Given the description of an element on the screen output the (x, y) to click on. 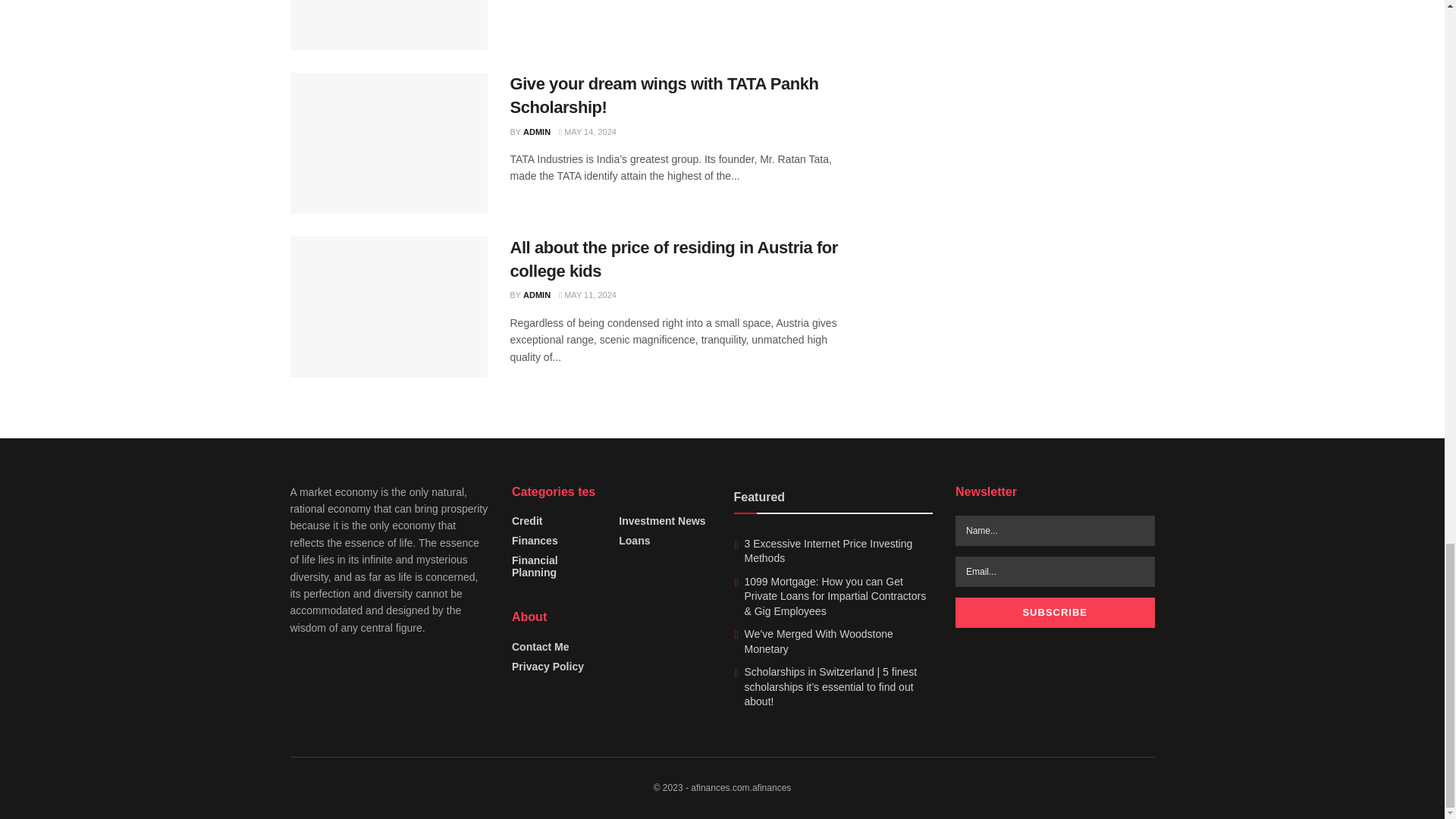
Subscribe (1054, 612)
